Given the description of an element on the screen output the (x, y) to click on. 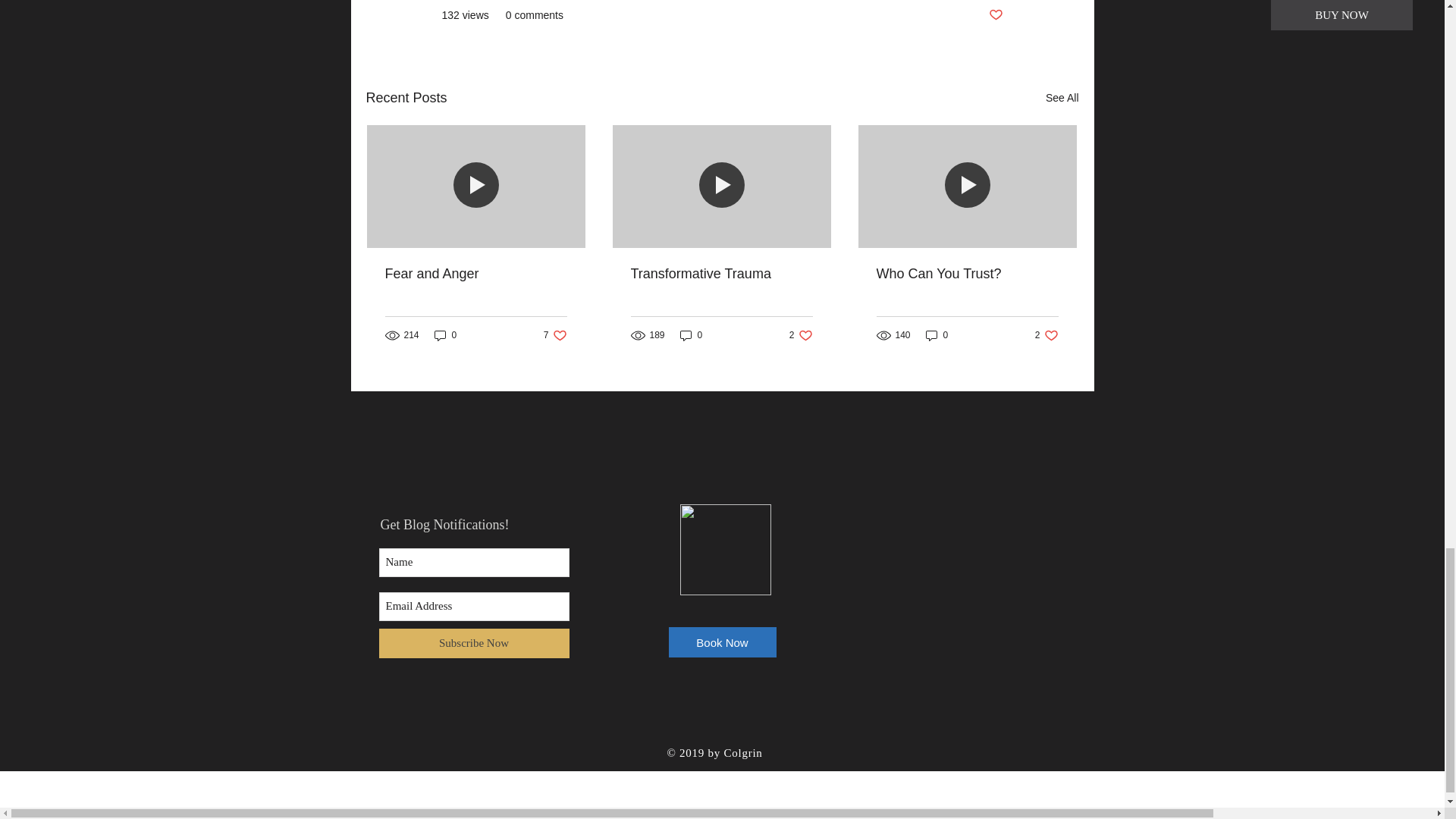
Transformative Trauma (721, 273)
Subscribe Now (800, 335)
0 (473, 643)
See All (555, 335)
Post not marked as liked (937, 335)
Book Now (1061, 97)
0 (995, 15)
Fear and Anger (722, 642)
0 (1046, 335)
Who Can You Trust? (691, 335)
